Given the description of an element on the screen output the (x, y) to click on. 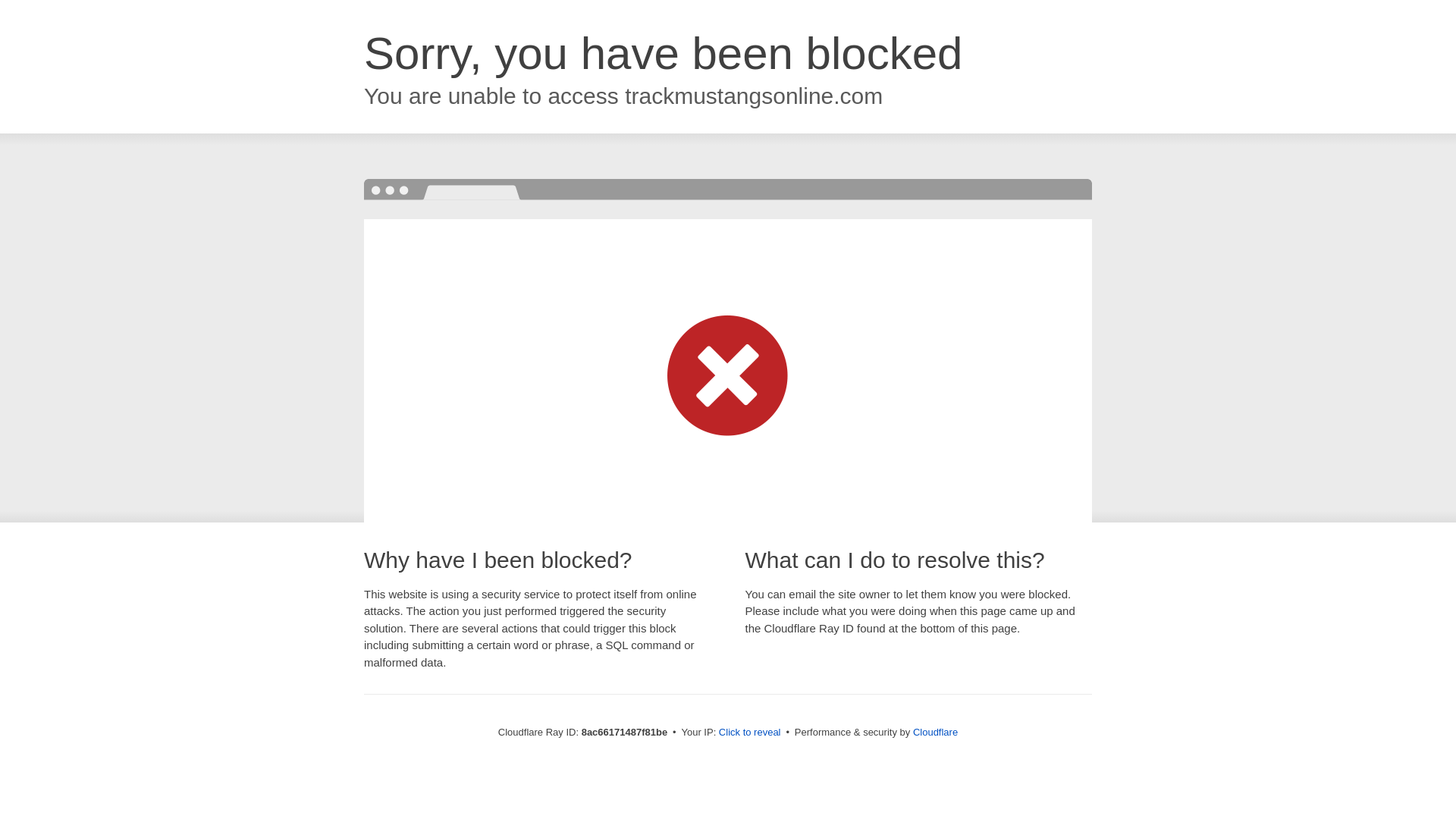
Cloudflare (935, 731)
Click to reveal (749, 732)
